Given the description of an element on the screen output the (x, y) to click on. 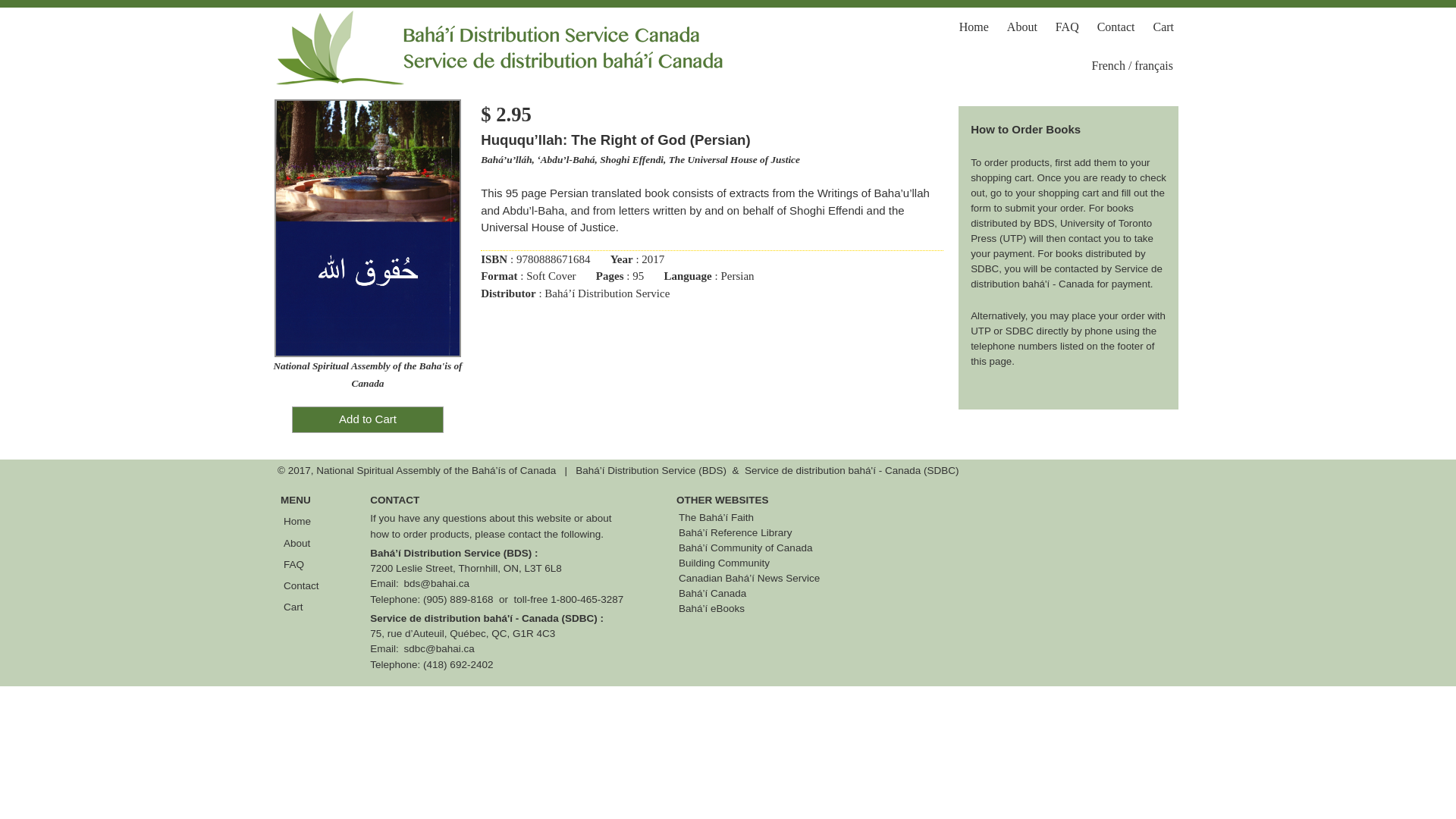
FAQ Element type: text (301, 564)
Building Community Element type: text (723, 562)
Home Element type: text (301, 521)
About Element type: text (301, 542)
Home Element type: text (973, 27)
FAQ Element type: text (1067, 27)
Contact Element type: text (301, 585)
Cart Element type: text (1163, 27)
Add to Cart Element type: text (367, 419)
sdbc@bahai.ca Element type: text (438, 648)
Contact Element type: text (1116, 27)
About Element type: text (1021, 27)
Cart Element type: text (301, 607)
bds@bahai.ca Element type: text (436, 583)
